Given the description of an element on the screen output the (x, y) to click on. 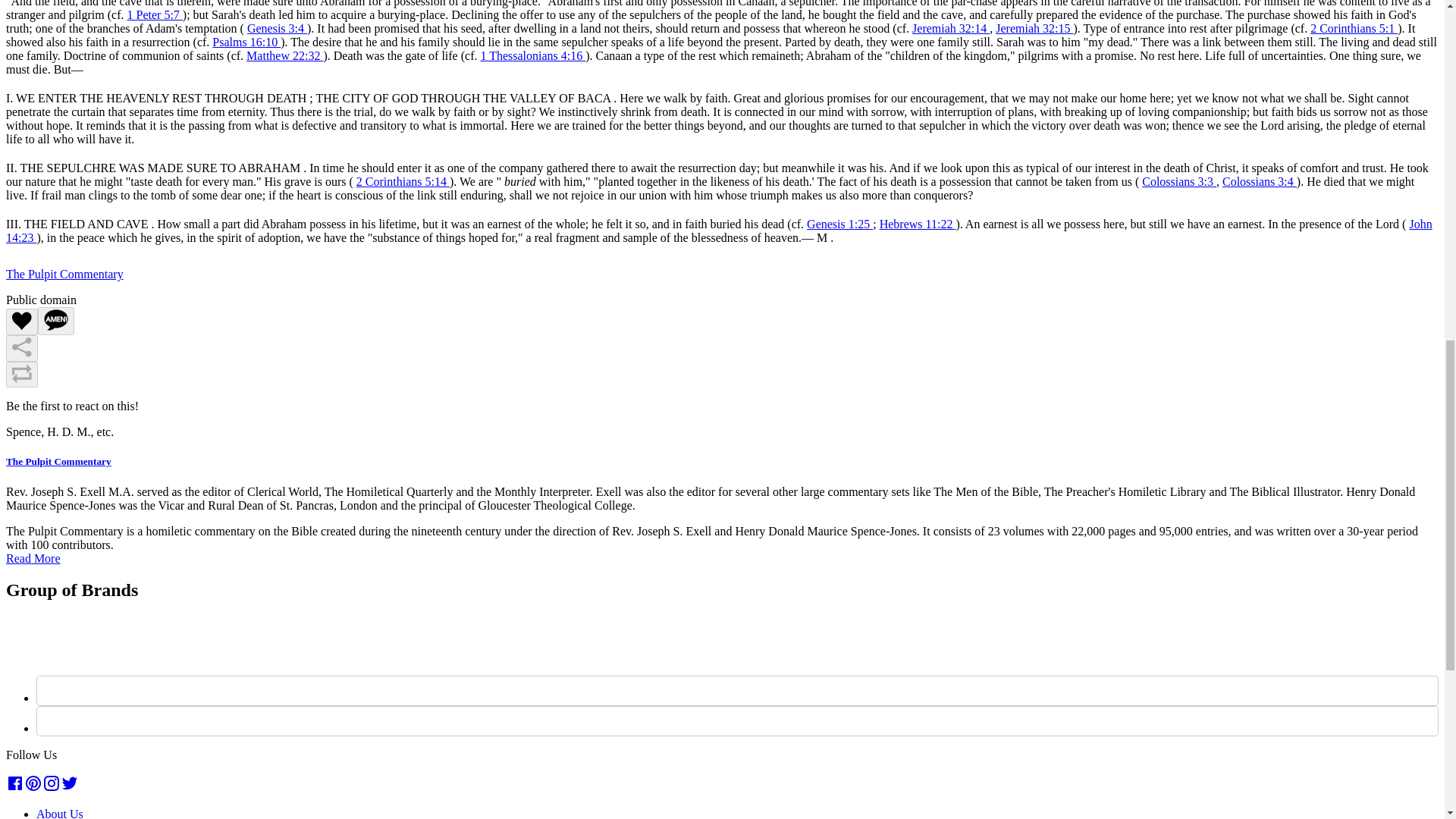
Store (57, 29)
Bible Passages -  Jeremiah 32:14  - click to view detail (951, 28)
Community (74, 9)
Bible Passages -  2 Corinthians 5:14  - click to view detail (402, 181)
Bible Passages -  Genesis 3:4  - click to view detail (277, 28)
Bible Passages -  Hebrews 11:22  - click to view detail (917, 223)
Bible Passages -  Colossians 3:3  - click to view detail (1178, 181)
Bible Passages -  Psalms 16:10  - click to view detail (246, 42)
Amen (55, 320)
